Given the description of an element on the screen output the (x, y) to click on. 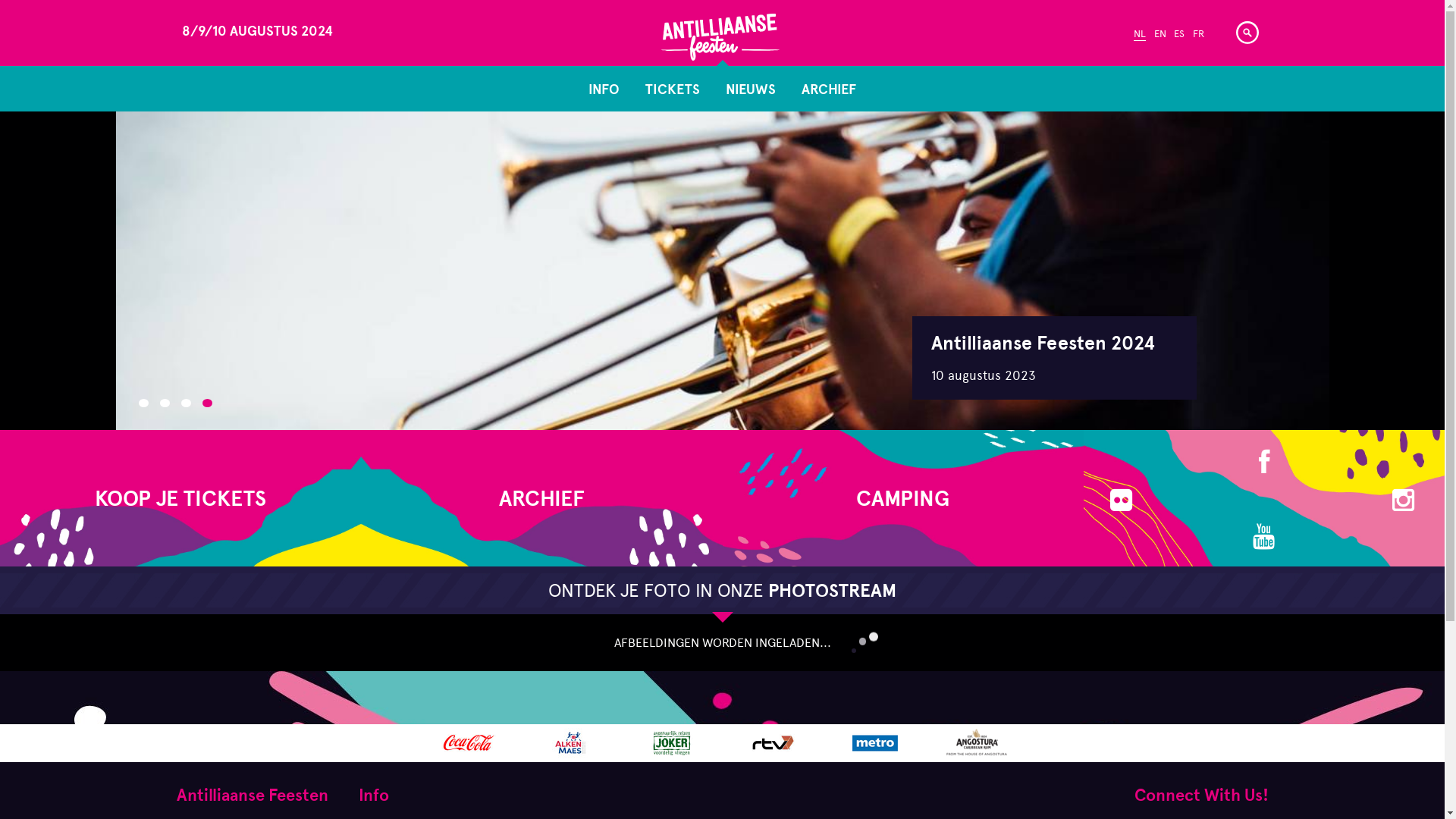
RTV 7 Element type: hover (773, 743)
Instagram Element type: hover (1405, 498)
8/9/10 AUGUSTUS 2024 Element type: text (310, 38)
NIEUWS Element type: text (750, 89)
TICKETS Element type: text (672, 89)
3 Element type: text (185, 402)
EN Element type: text (1160, 34)
Aftermovie 2023 ONLINE !
22 oktober 2023 Element type: text (1053, 357)
Facebook Element type: hover (1264, 460)
FR Element type: text (1198, 34)
ARCHIEF Element type: text (828, 89)
1 Element type: text (142, 402)
Coca Cola  Element type: hover (468, 743)
Joker Element type: hover (671, 743)
INFO Element type: text (603, 89)
Angostura Element type: hover (976, 743)
ARCHIEF Element type: text (540, 497)
Metro Element type: hover (874, 743)
ES Element type: text (1178, 34)
Maes Element type: hover (569, 743)
ONTDEK JE FOTO IN ONZE PHOTOSTREAM Element type: text (722, 590)
2 Element type: text (164, 402)
Zoeken Element type: hover (1247, 33)
Antilliaanse Feesten Element type: hover (720, 30)
KOOP JE TICKETS Element type: text (180, 497)
4 Element type: text (206, 402)
Flickr Element type: hover (1122, 498)
YouTube Element type: hover (1265, 535)
CAMPING Element type: text (901, 497)
